Given the description of an element on the screen output the (x, y) to click on. 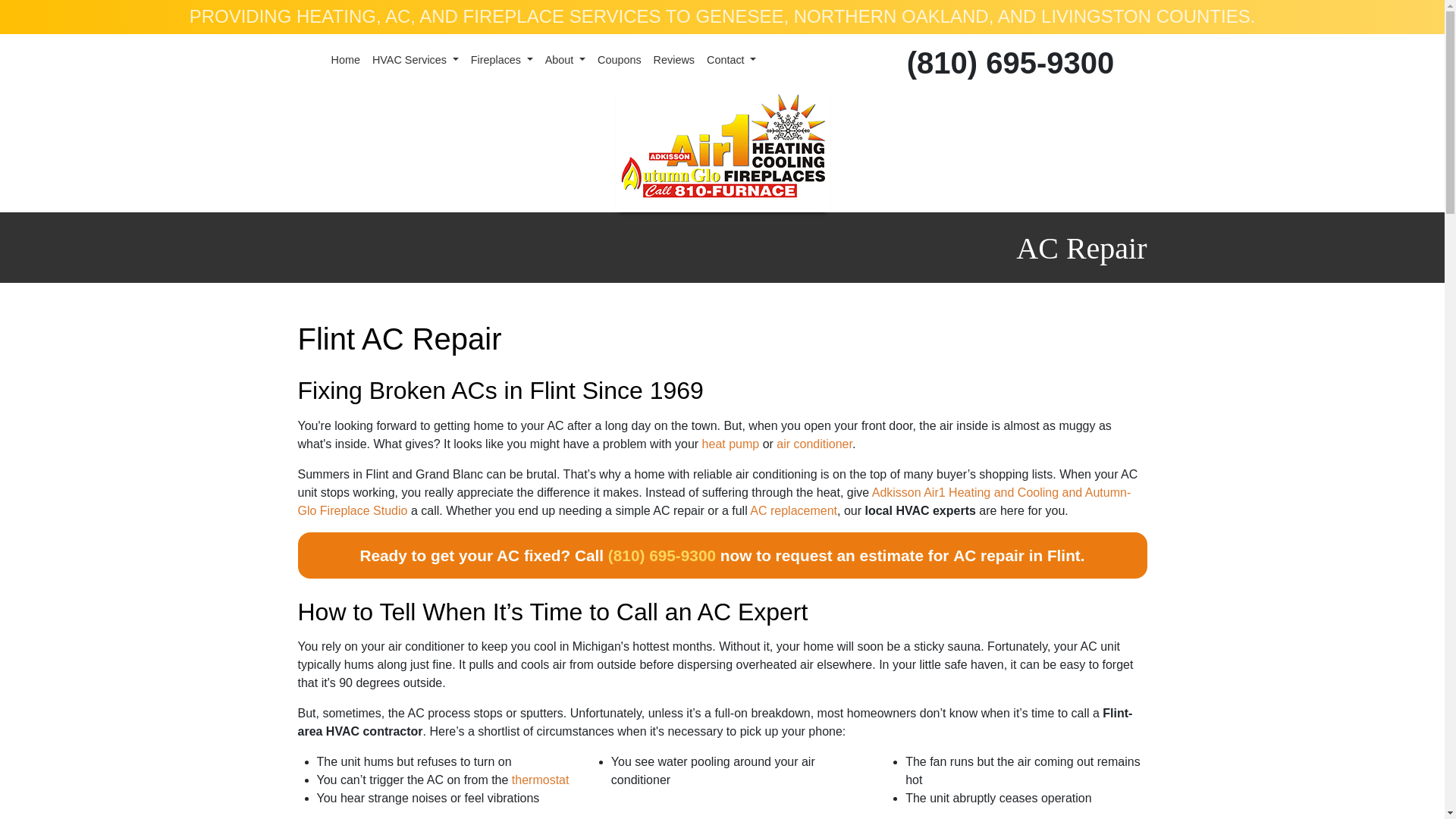
air conditioner (813, 443)
Fireplaces (501, 60)
Reviews (673, 60)
HVAC Services (415, 60)
Home (344, 60)
heat pump (730, 443)
About (564, 60)
AC replacement (793, 510)
Coupons (619, 60)
Contact (730, 60)
thermostat (540, 779)
